Given the description of an element on the screen output the (x, y) to click on. 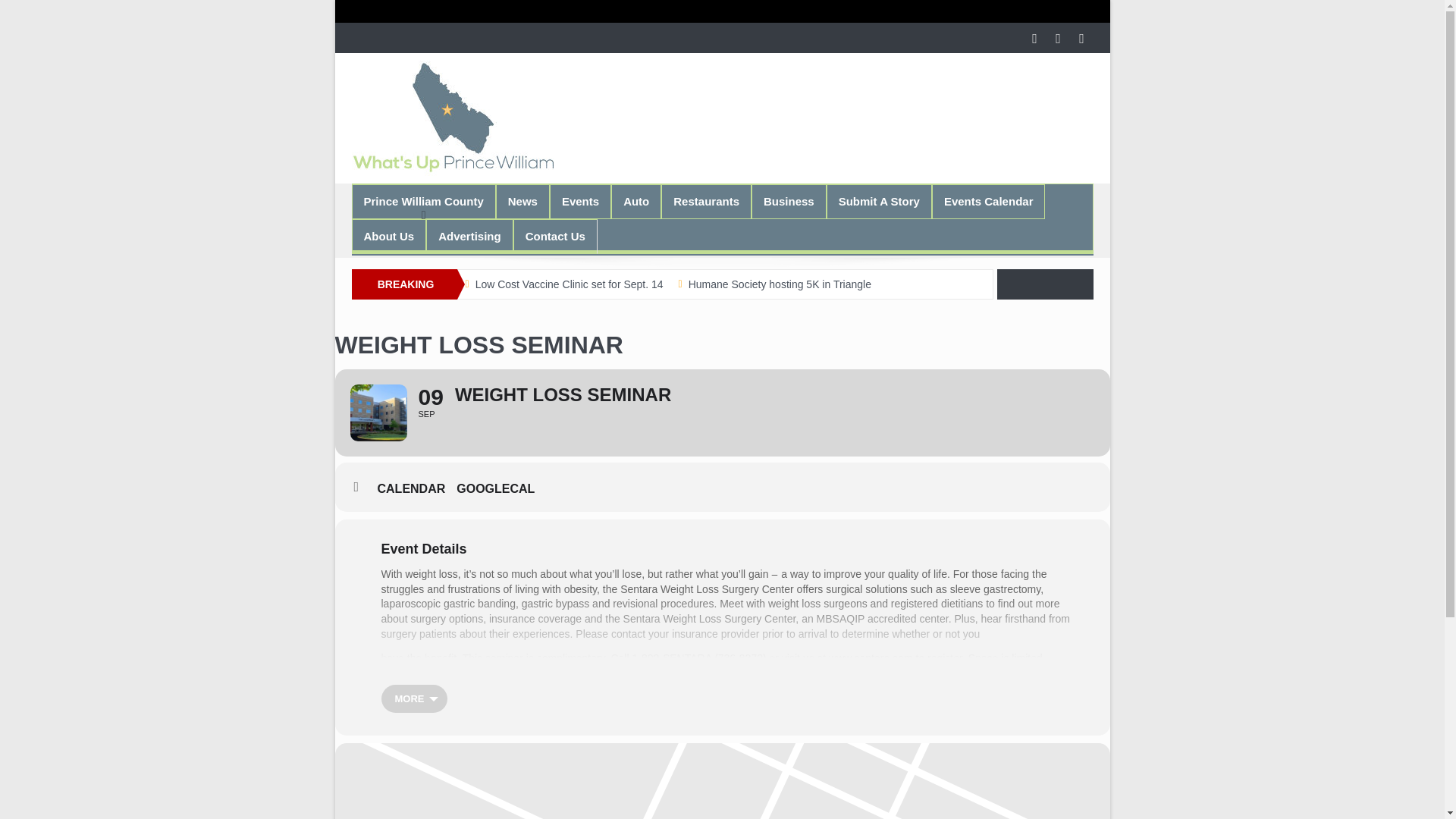
About Us (388, 236)
Business (788, 201)
Restaurants (706, 201)
Prince William County (423, 201)
Auto (636, 201)
Advertising (469, 236)
News (522, 201)
Contact Us (554, 236)
Submit A Story (879, 201)
Events (580, 201)
Events Calendar (989, 201)
